Given the description of an element on the screen output the (x, y) to click on. 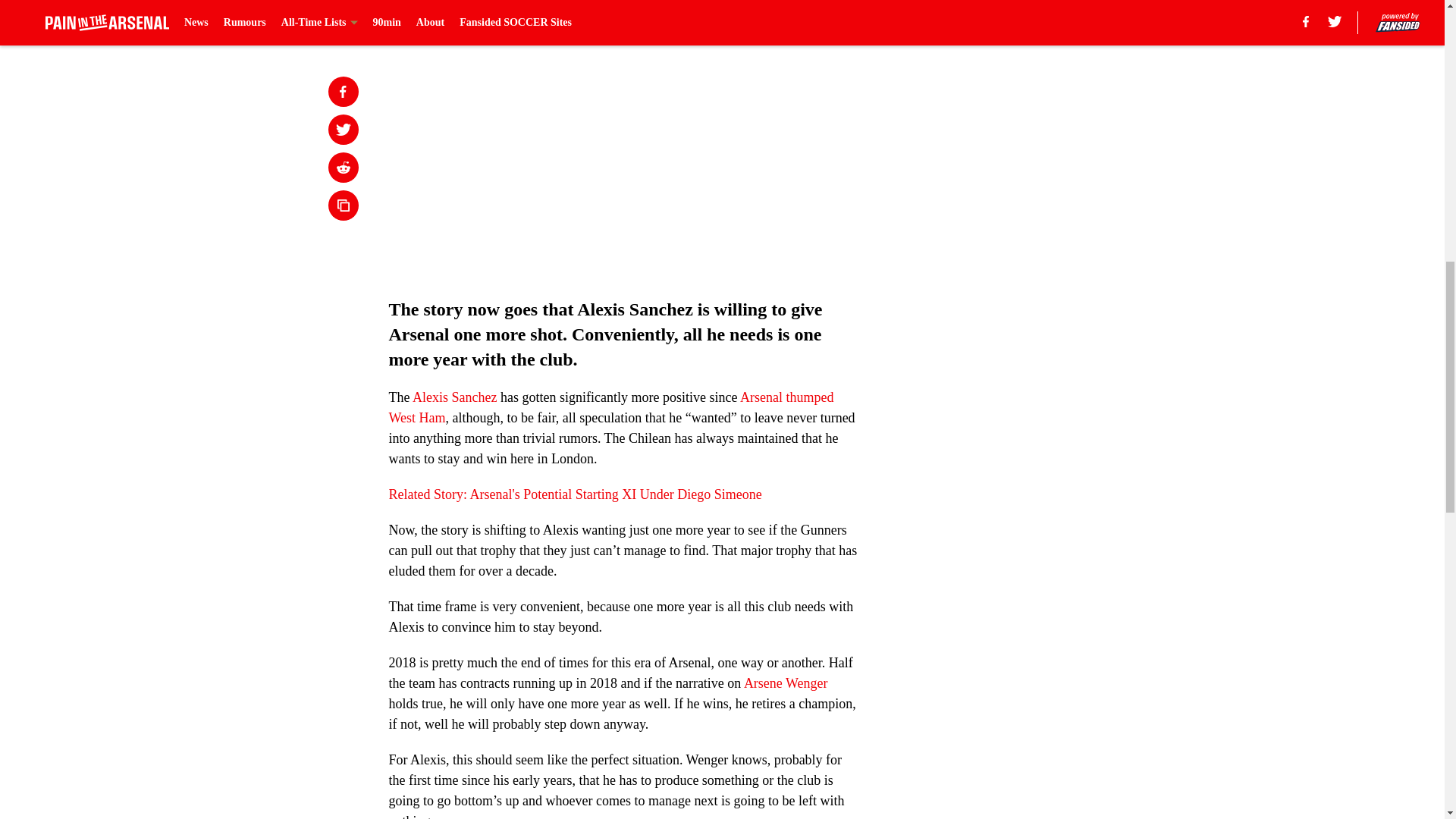
Alexis Sanchez (454, 396)
thumped West Ham (610, 407)
Arsene Wenger (786, 683)
Arsenal (762, 396)
